Given the description of an element on the screen output the (x, y) to click on. 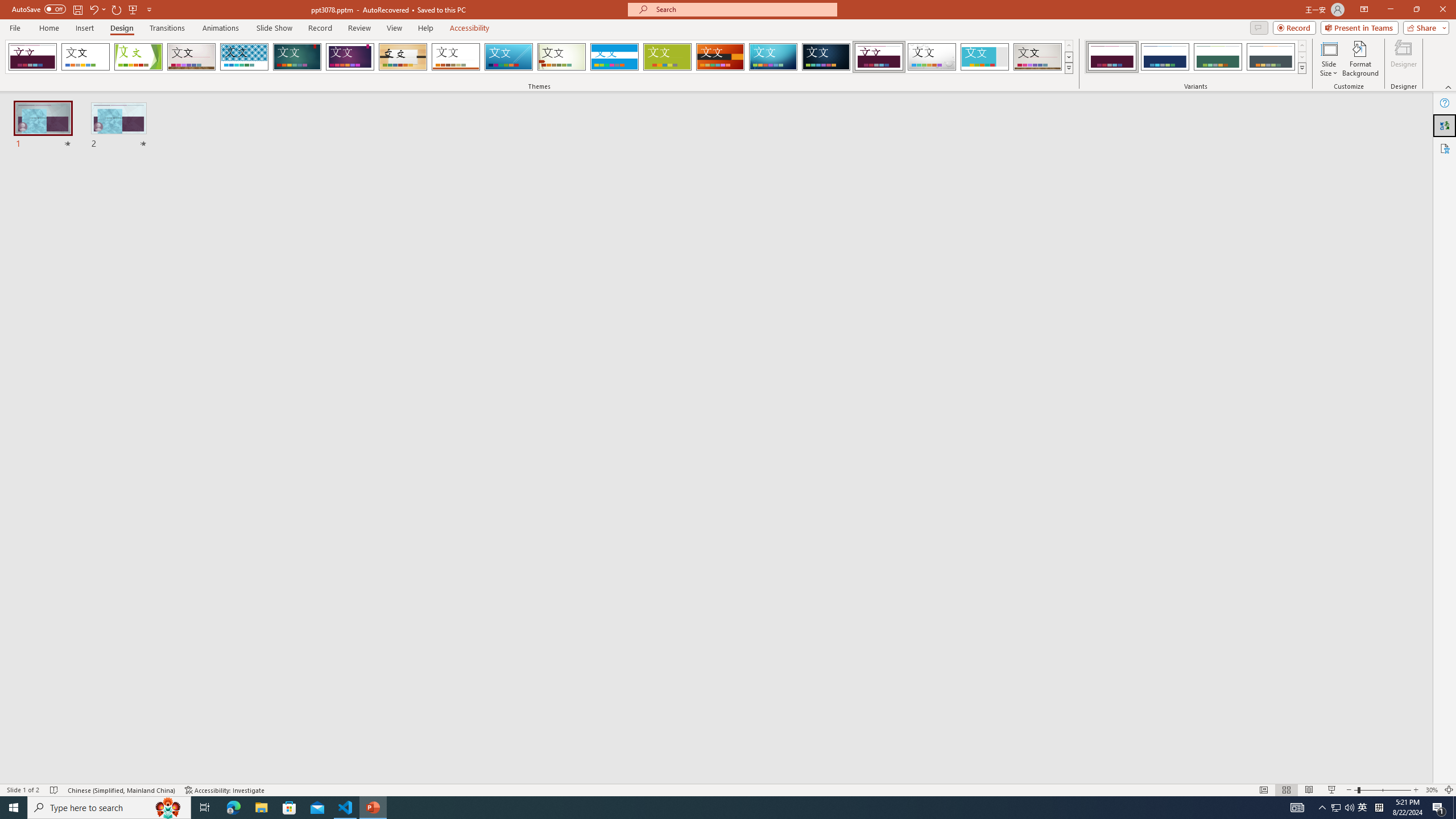
Berlin (720, 56)
AutomationID: SlideThemesGallery (539, 56)
Dividend Variant 2 (1164, 56)
